Given the description of an element on the screen output the (x, y) to click on. 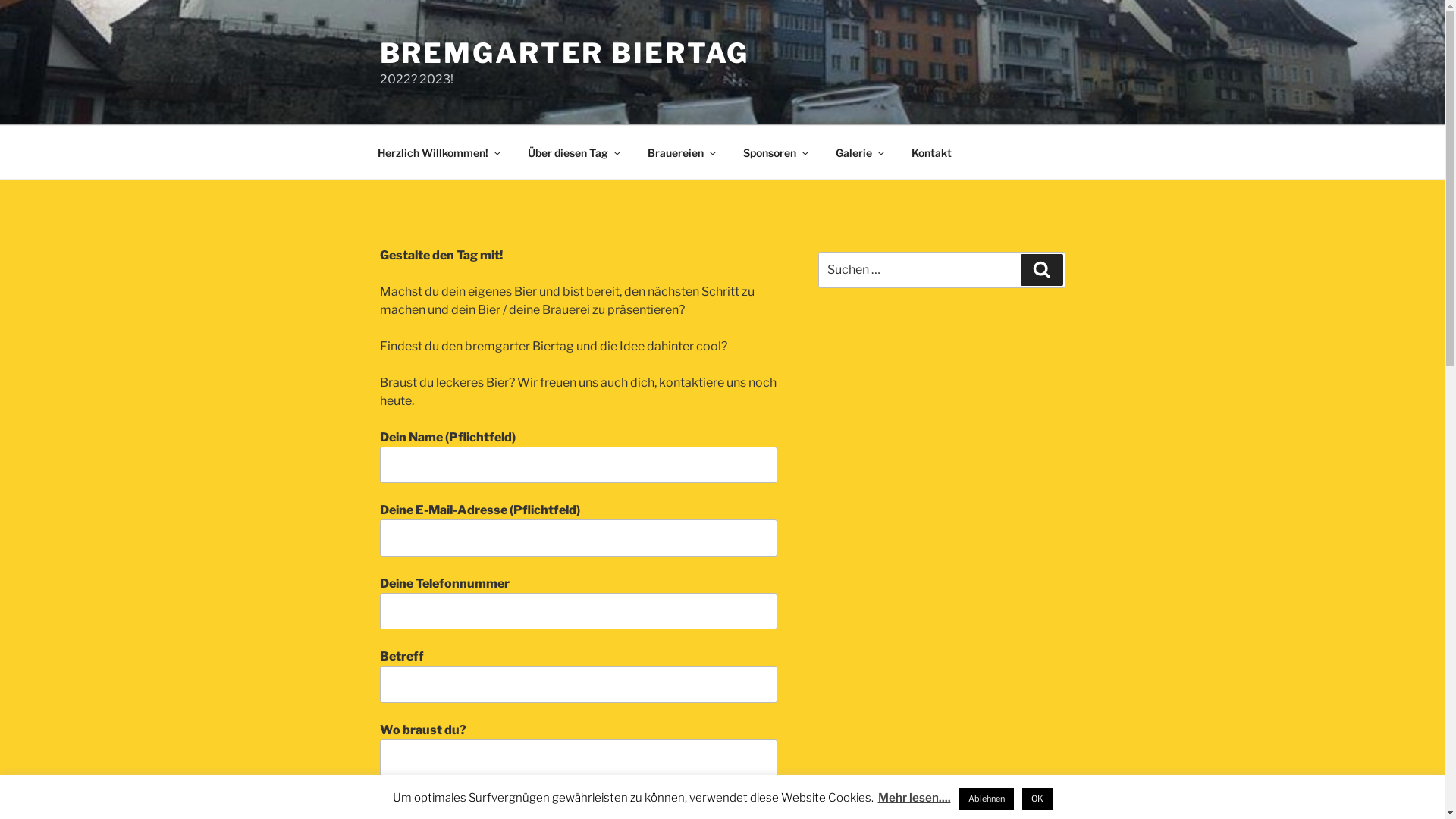
Galerie Element type: text (858, 151)
Suchen Element type: text (1041, 269)
BREMGARTER BIERTAG Element type: text (564, 52)
Herzlich Willkommen! Element type: text (437, 151)
Ablehnen Element type: text (985, 798)
Kontakt Element type: text (930, 151)
Mehr lesen.... Element type: text (914, 797)
Brauereien Element type: text (680, 151)
OK Element type: text (1037, 798)
Sponsoren Element type: text (774, 151)
